Given the description of an element on the screen output the (x, y) to click on. 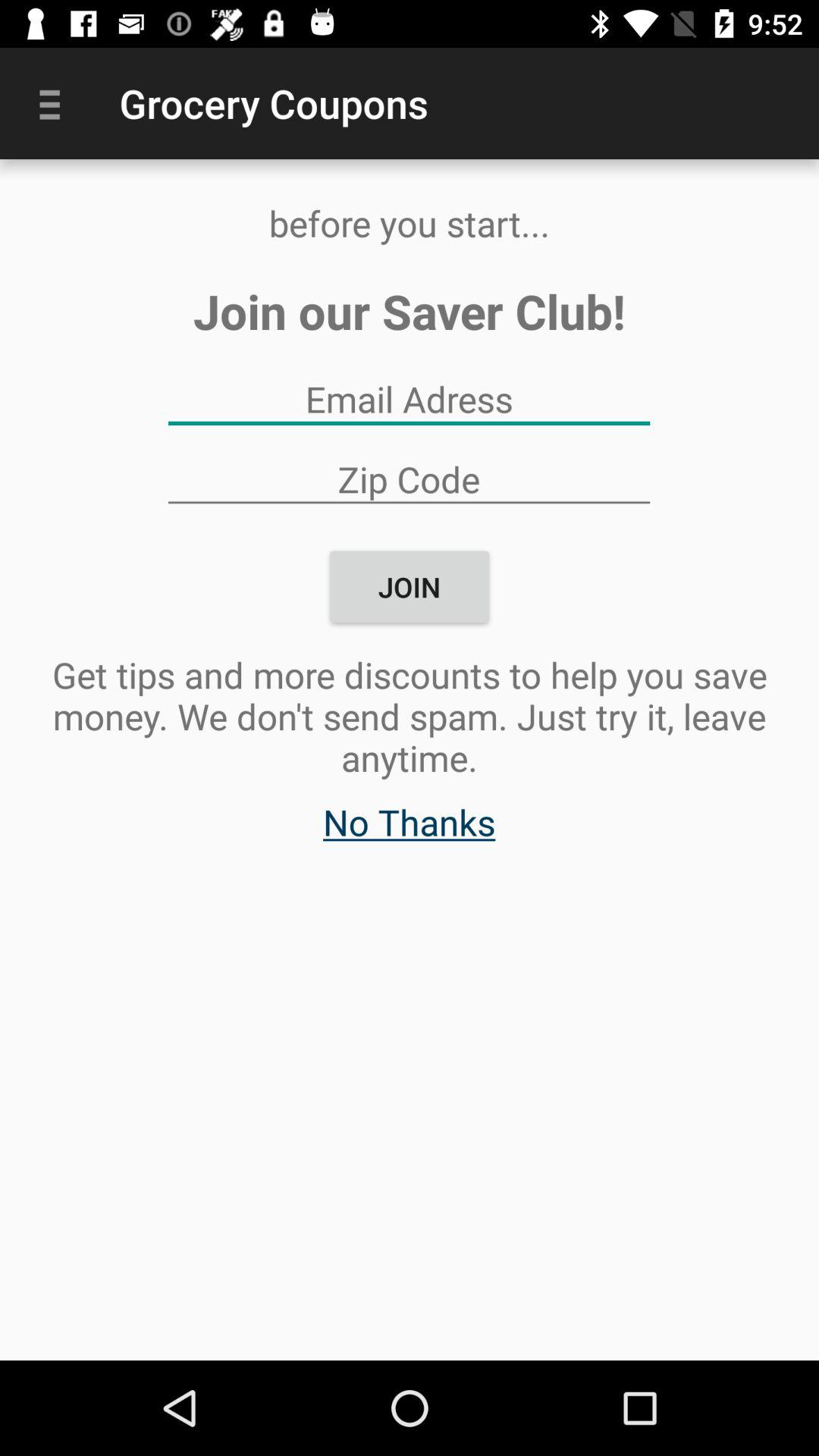
enter the zipcode (409, 479)
